Given the description of an element on the screen output the (x, y) to click on. 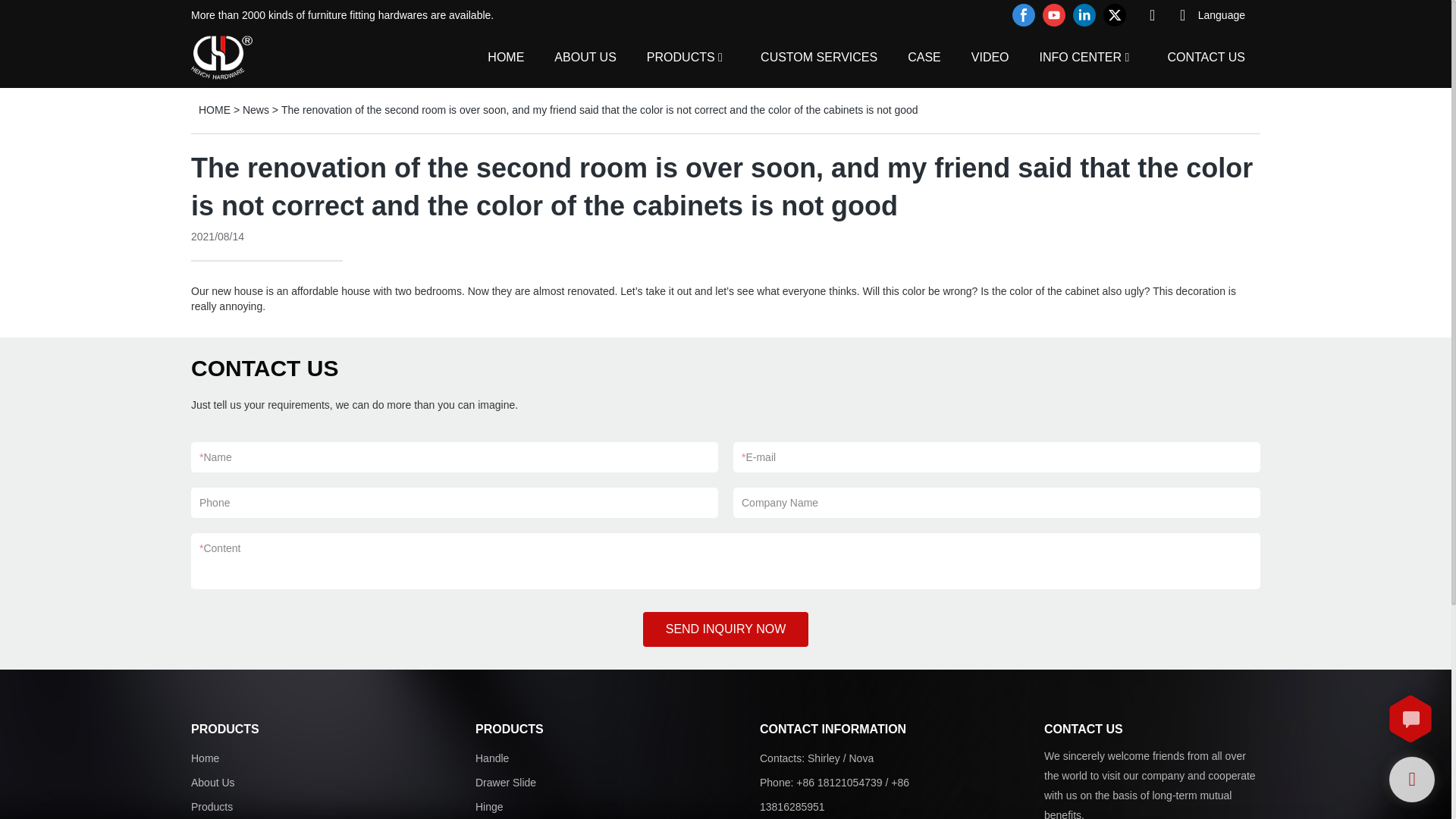
News (256, 110)
youtube (1053, 15)
INFO CENTER (1080, 56)
CONTACT US (1205, 56)
linkedin (1083, 15)
VIDEO (990, 56)
SEND INQUIRY NOW (726, 629)
ABOUT US (584, 56)
CUSTOM SERVICES (818, 56)
